Given the description of an element on the screen output the (x, y) to click on. 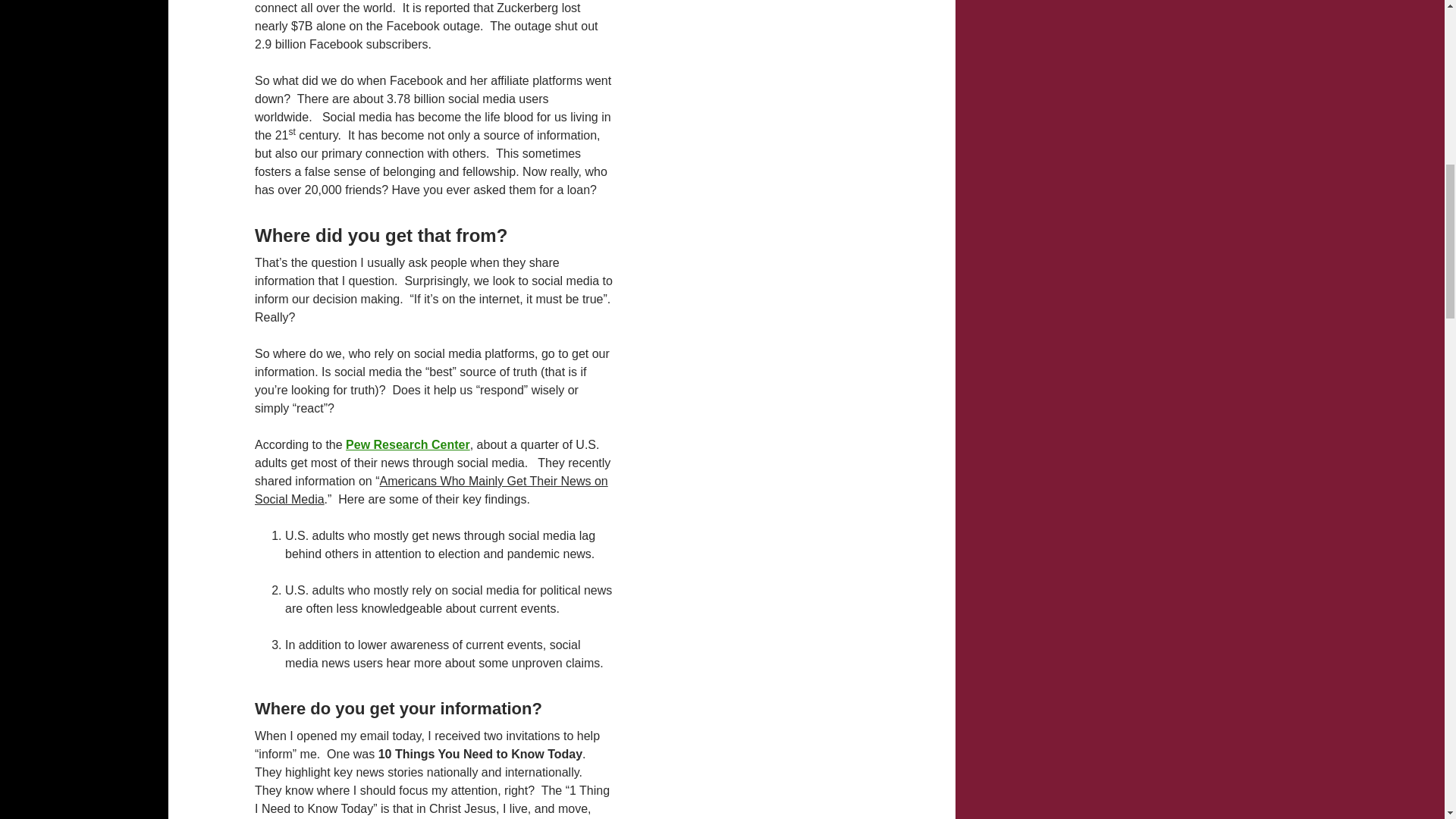
Pew Research Center (408, 444)
